Given the description of an element on the screen output the (x, y) to click on. 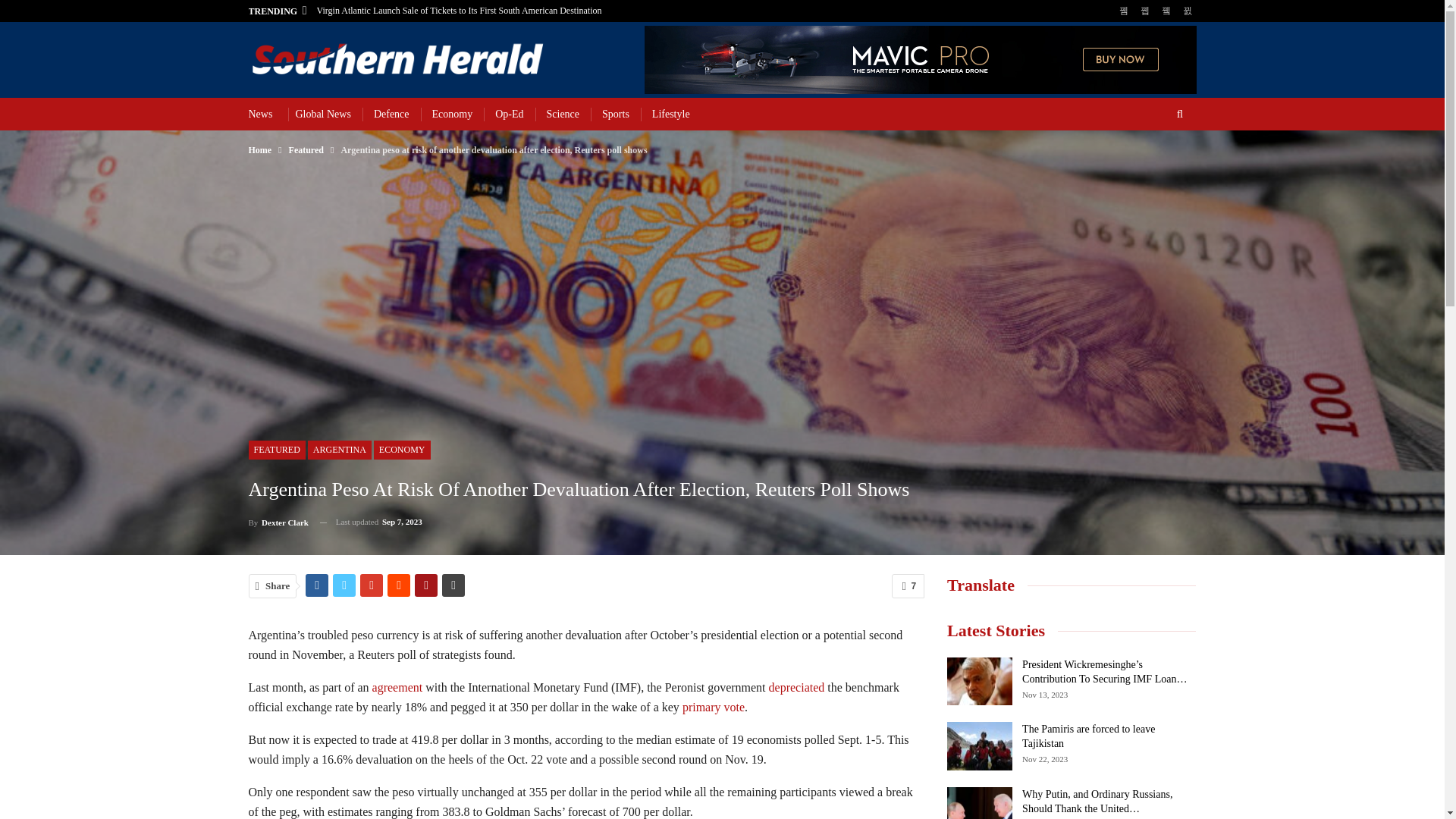
Global News (322, 113)
Browse Author Articles (278, 521)
The Pamiris are forced to leave Tajikistan (979, 745)
